Given the description of an element on the screen output the (x, y) to click on. 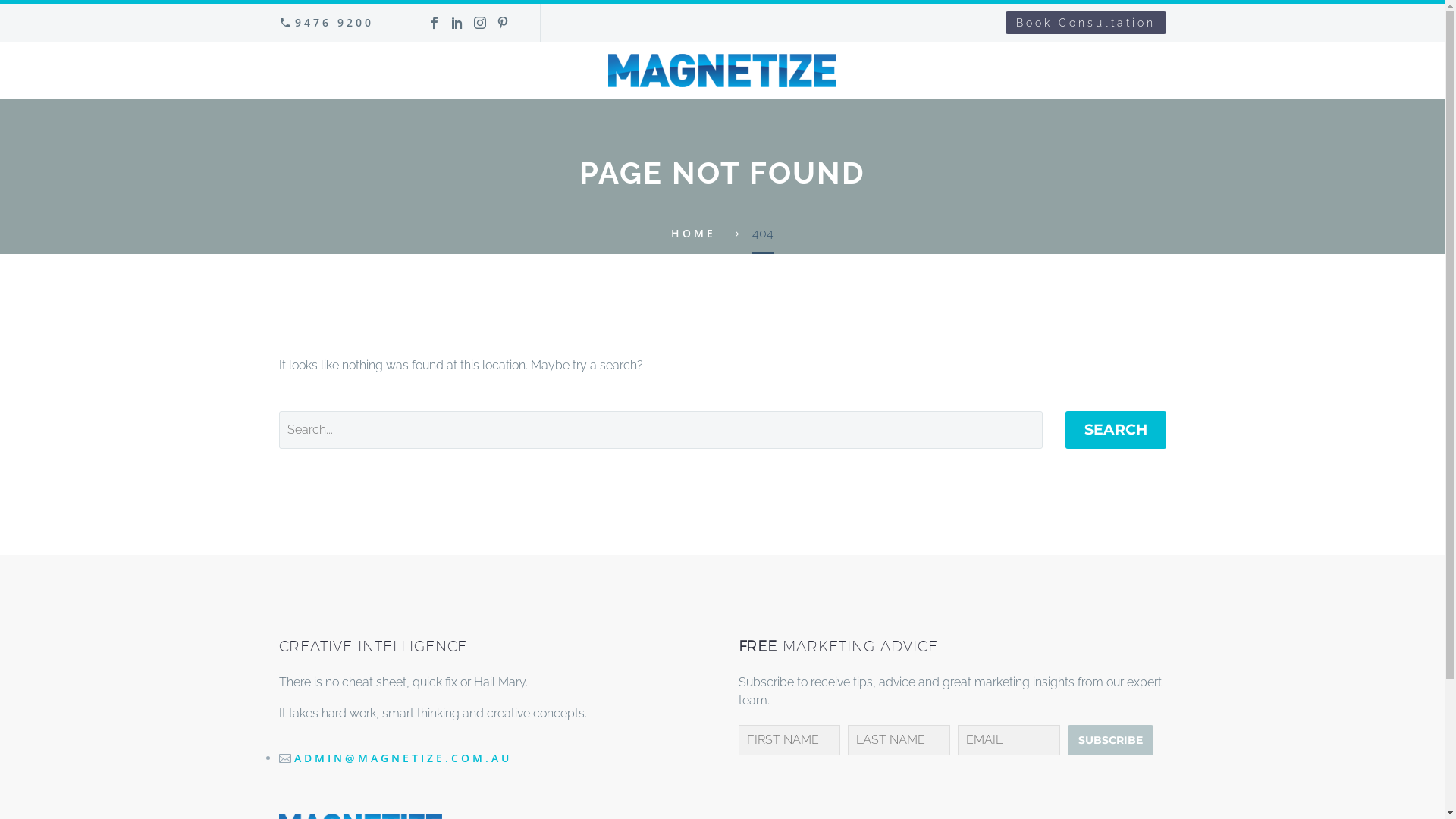
SUBSCRIBE Element type: text (1110, 739)
ADMIN@MAGNETIZE.COM.AU Element type: text (402, 758)
Instagram Element type: hover (479, 22)
HOME Element type: text (693, 232)
Book Consultation Element type: text (1085, 22)
Facebook Element type: hover (434, 22)
SEARCH Element type: text (1114, 429)
Pinterest Element type: hover (502, 22)
9476 9200 Element type: text (333, 22)
LinkedIn Element type: hover (456, 22)
